Given the description of an element on the screen output the (x, y) to click on. 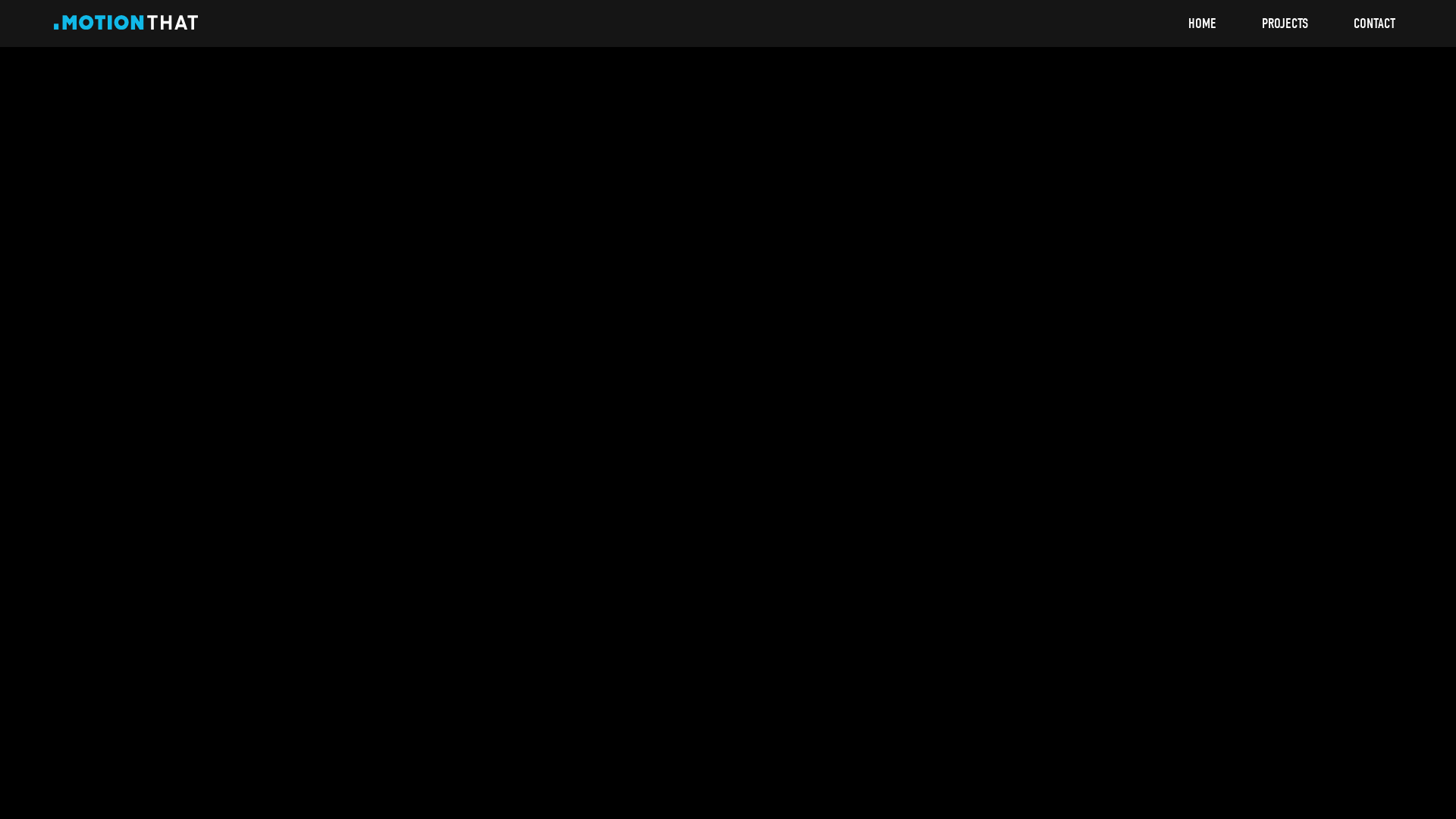
HOME Element type: text (1202, 23)
PROJECTS Element type: text (1284, 23)
CONTACT Element type: text (1374, 23)
